Given the description of an element on the screen output the (x, y) to click on. 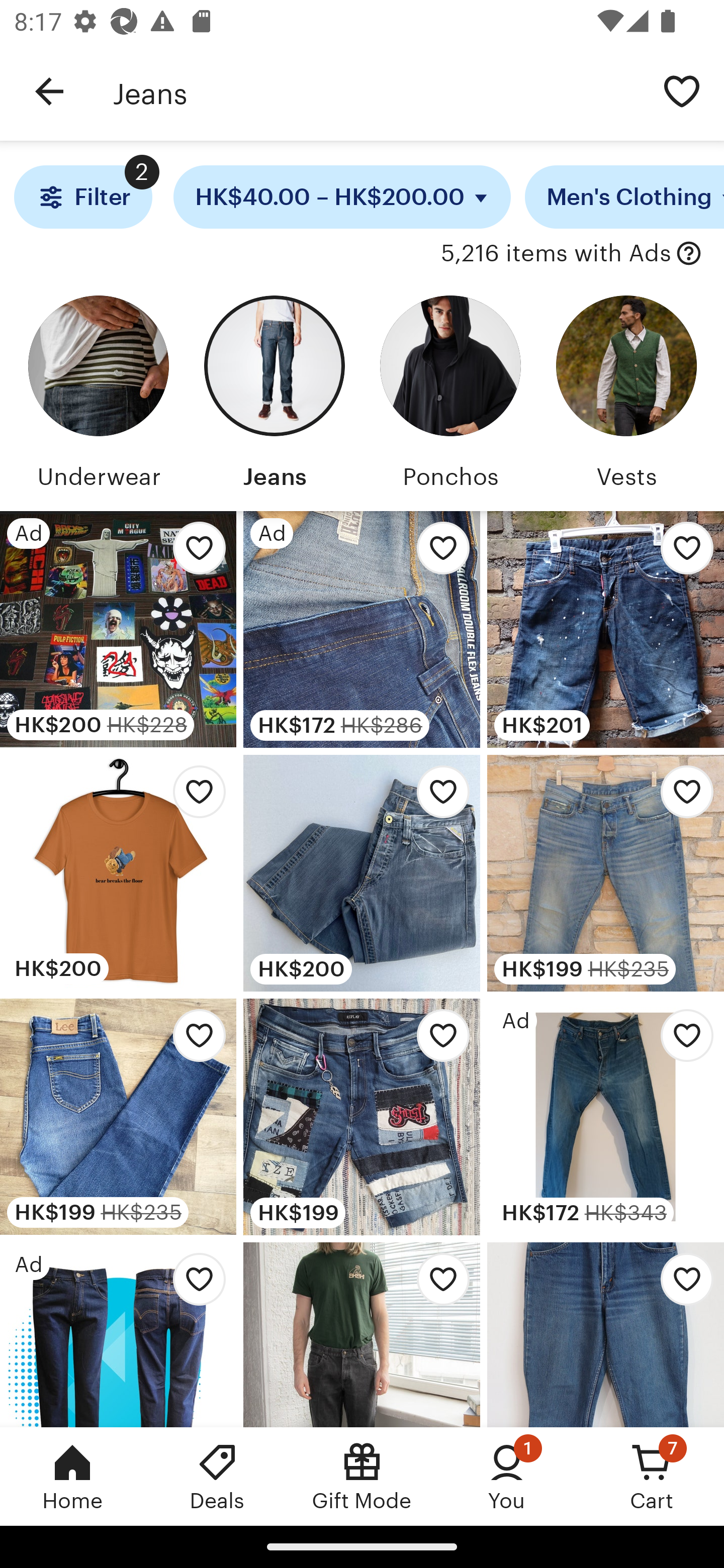
Navigate up (49, 91)
Save search (681, 90)
Jeans (375, 91)
Filter (82, 197)
HK$40.00 – HK$200.00 (342, 197)
Men's Clothing (624, 197)
5,216 items with Ads (555, 253)
with Ads (688, 253)
Underwear (97, 395)
Jeans (273, 395)
Ponchos (449, 395)
Vests (625, 395)
Add Duluth Mens Jeans to favorites (438, 553)
Add Upcycled Second Hand Denim Shorts to favorites (438, 1040)
Add Vintage levis 501 blue jeans 36 to favorites (681, 1040)
Add Vintage 80's Grey Jeans to favorites (438, 1283)
Deals (216, 1475)
Gift Mode (361, 1475)
You, 1 new notification You (506, 1475)
Cart, 7 new notifications Cart (651, 1475)
